Given the description of an element on the screen output the (x, y) to click on. 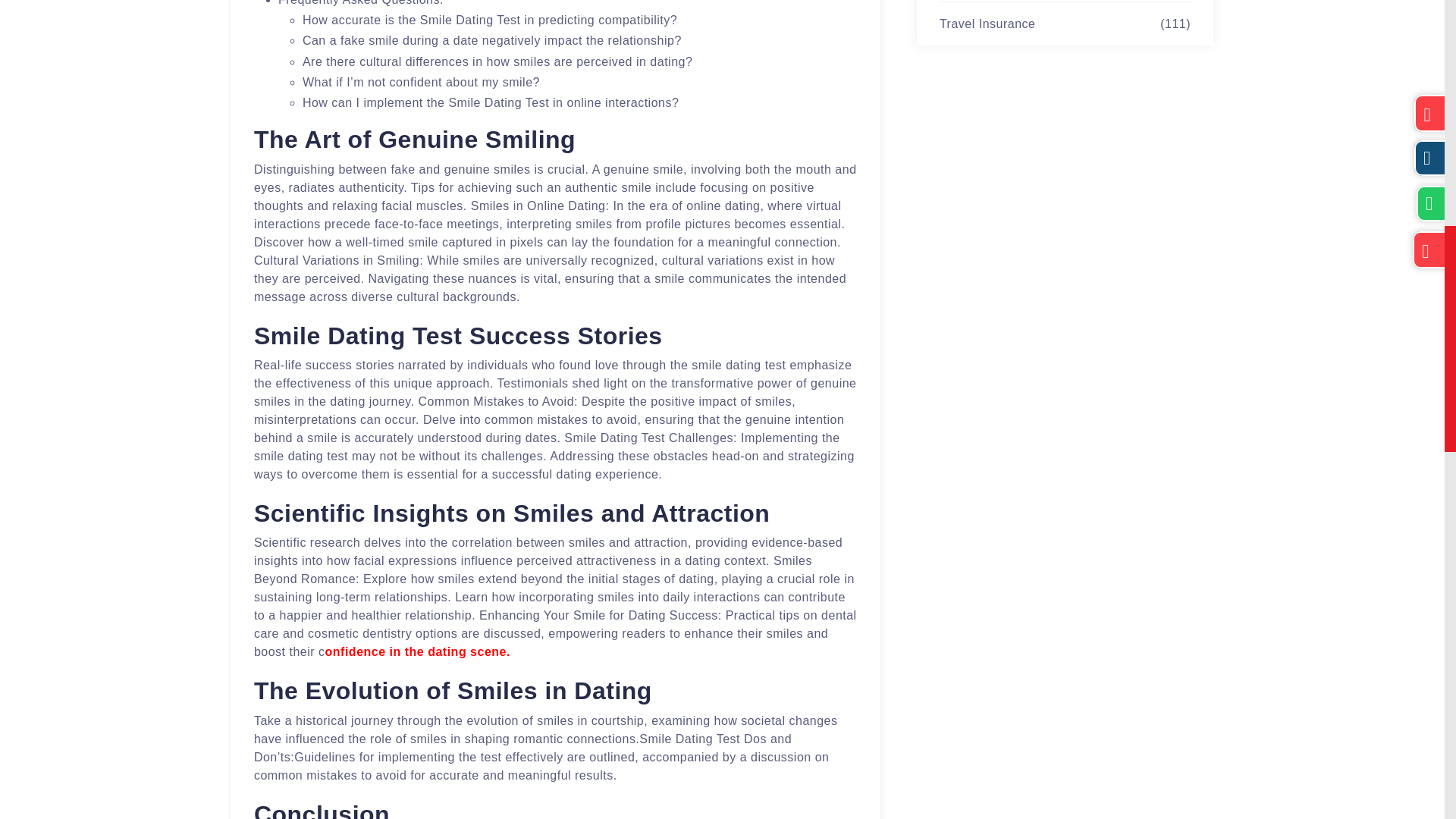
Frequently Asked Questions: (361, 2)
Frequently Asked Questions: (361, 2)
onfidence in the dating scene. (417, 651)
